Given the description of an element on the screen output the (x, y) to click on. 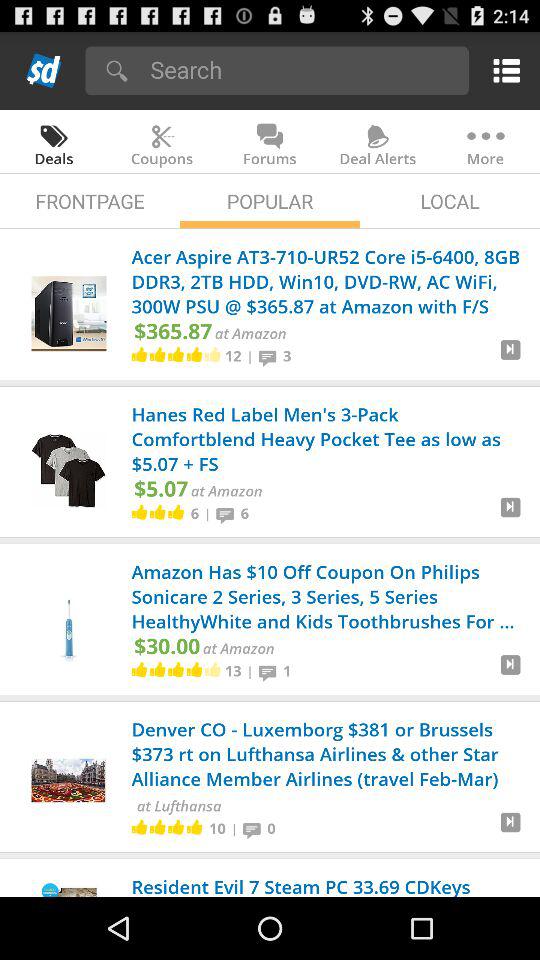
drop down menu (502, 70)
